Given the description of an element on the screen output the (x, y) to click on. 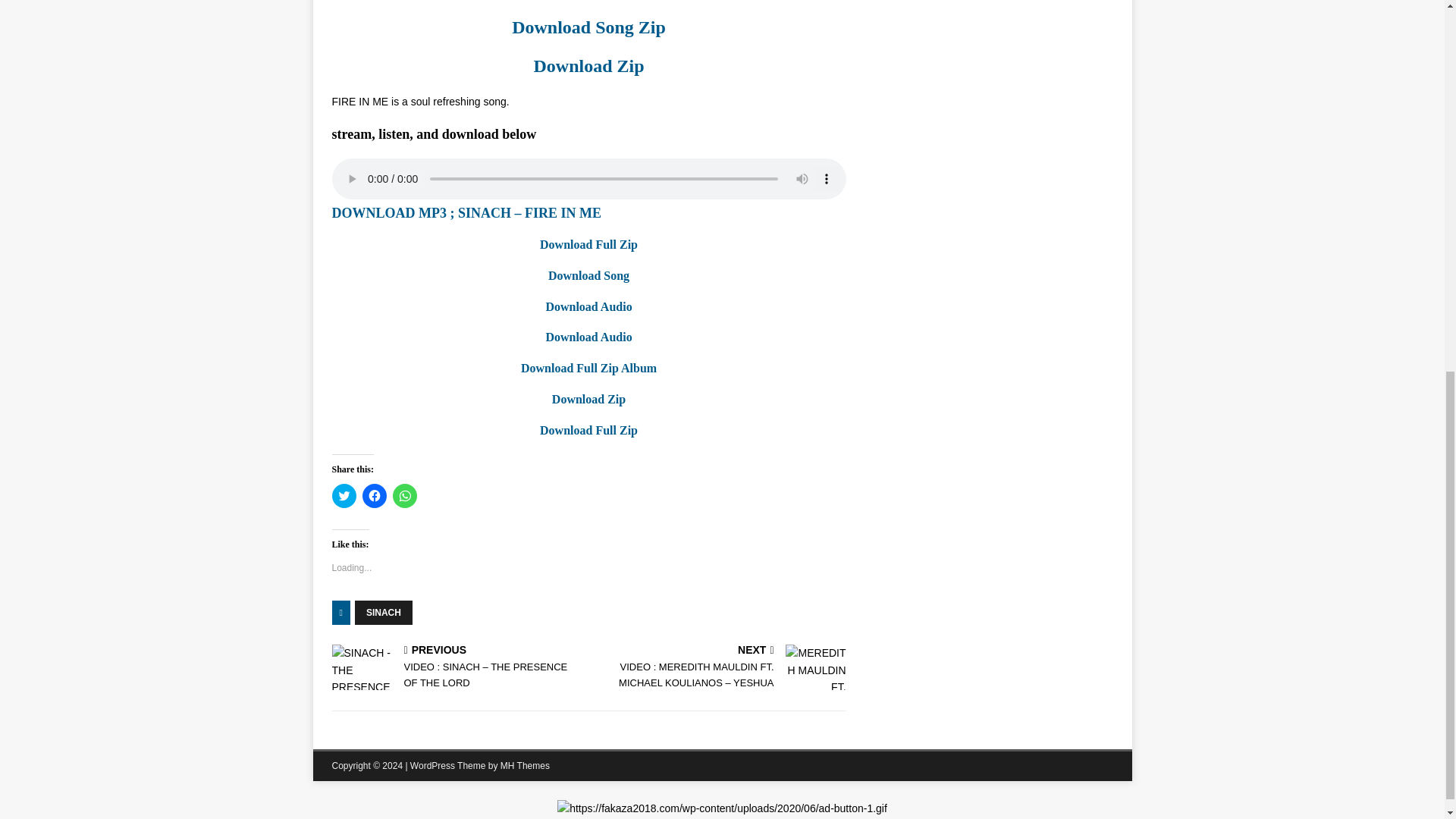
Click to share on WhatsApp (404, 495)
Download Zip (587, 66)
Download Audio (587, 336)
Download Audio (587, 306)
Download Zip (588, 399)
Click to share on Twitter (343, 495)
Download Full Zip Album (588, 367)
Download Full Zip (588, 430)
Download Full Zip (588, 244)
Download Song Zip (588, 26)
